Given the description of an element on the screen output the (x, y) to click on. 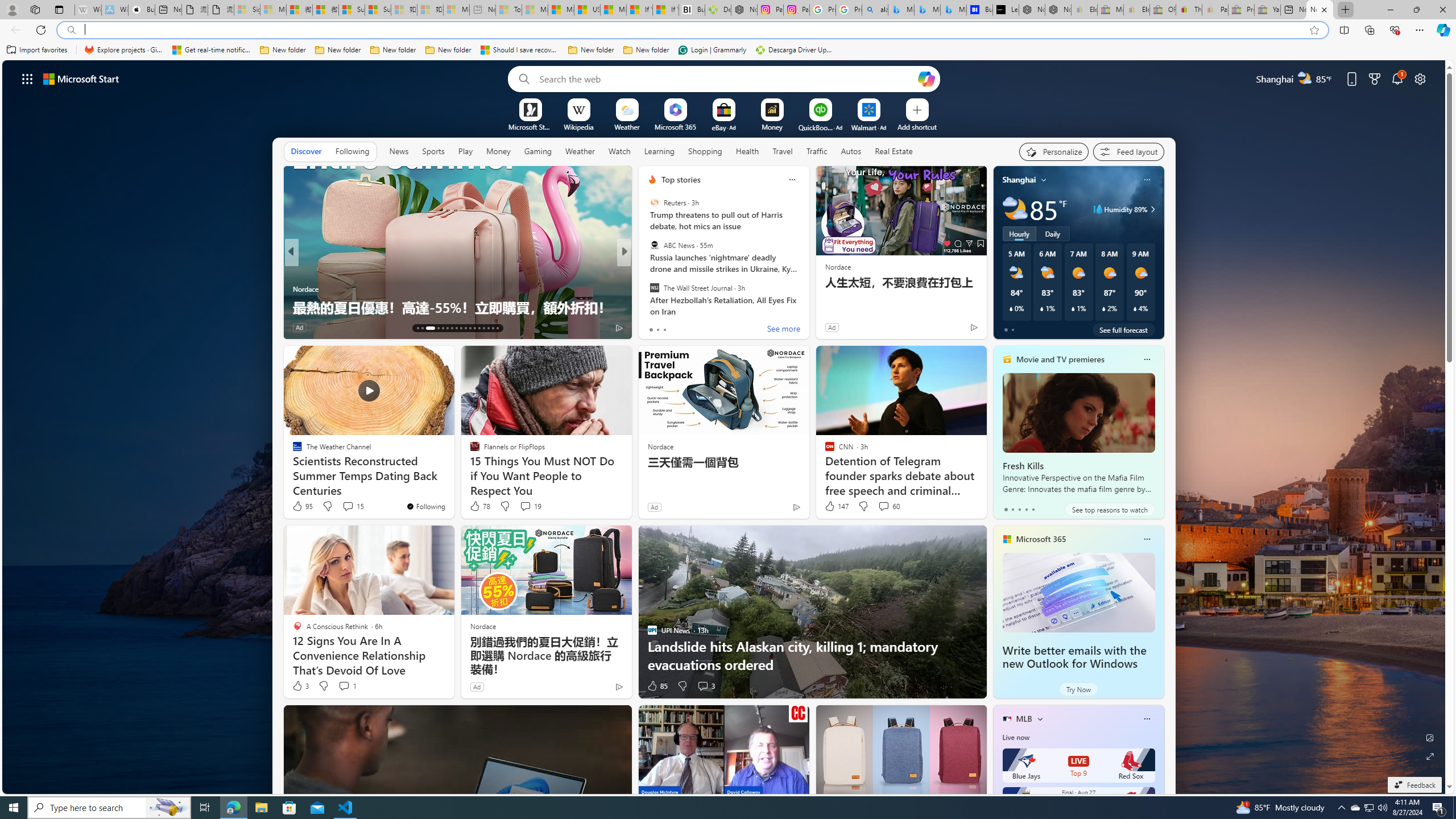
23 Like (652, 327)
Traffic (816, 151)
View comments 15 Comment (352, 505)
202 Like (654, 327)
View comments 60 Comment (888, 505)
Nordace - Nordace Edin Collection (743, 9)
Indy 100 (296, 270)
95 Like (301, 505)
